Given the description of an element on the screen output the (x, y) to click on. 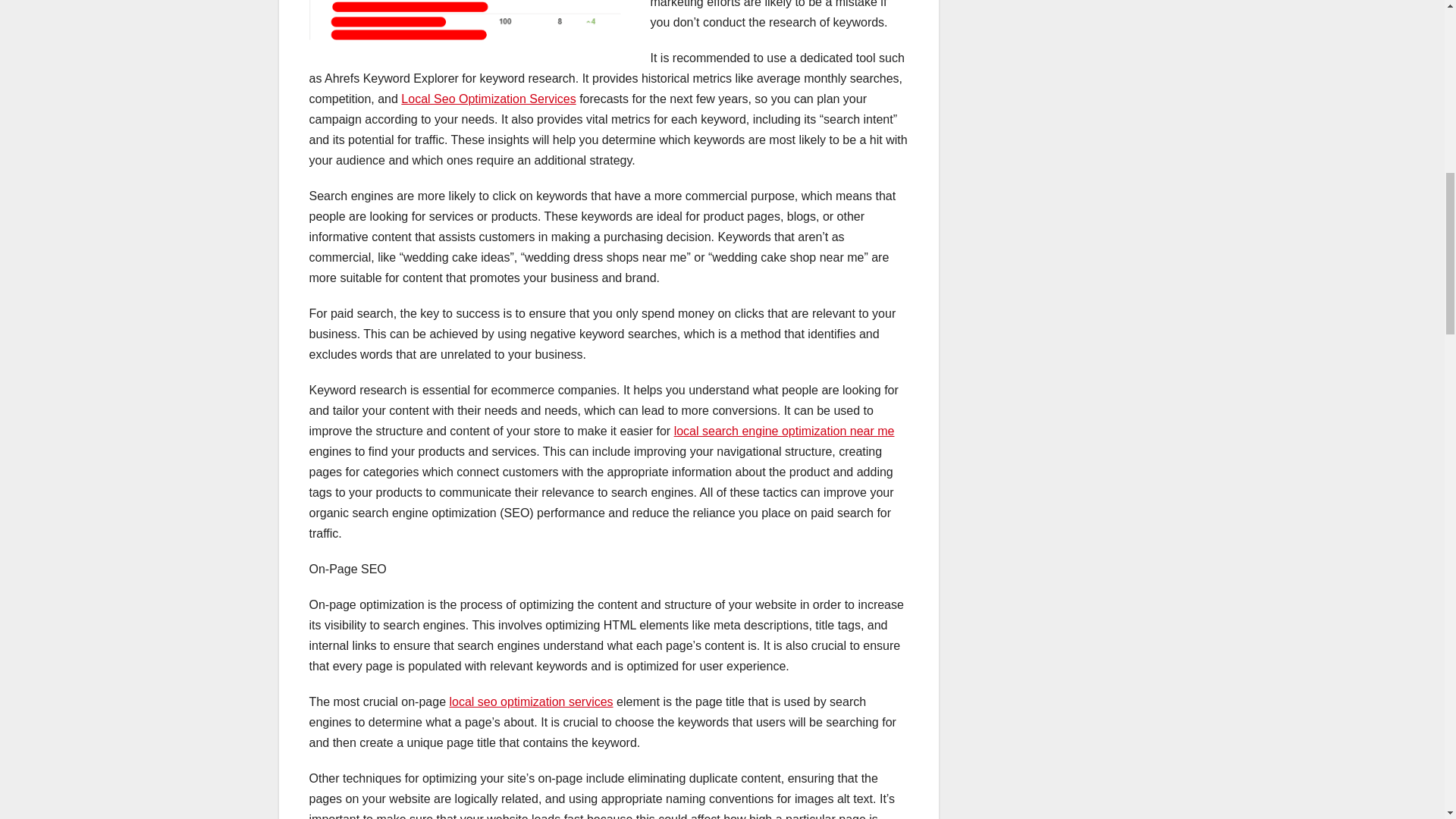
local seo optimization services (530, 701)
local search engine optimization near me (784, 431)
Local Seo Optimization Services (488, 98)
